Given the description of an element on the screen output the (x, y) to click on. 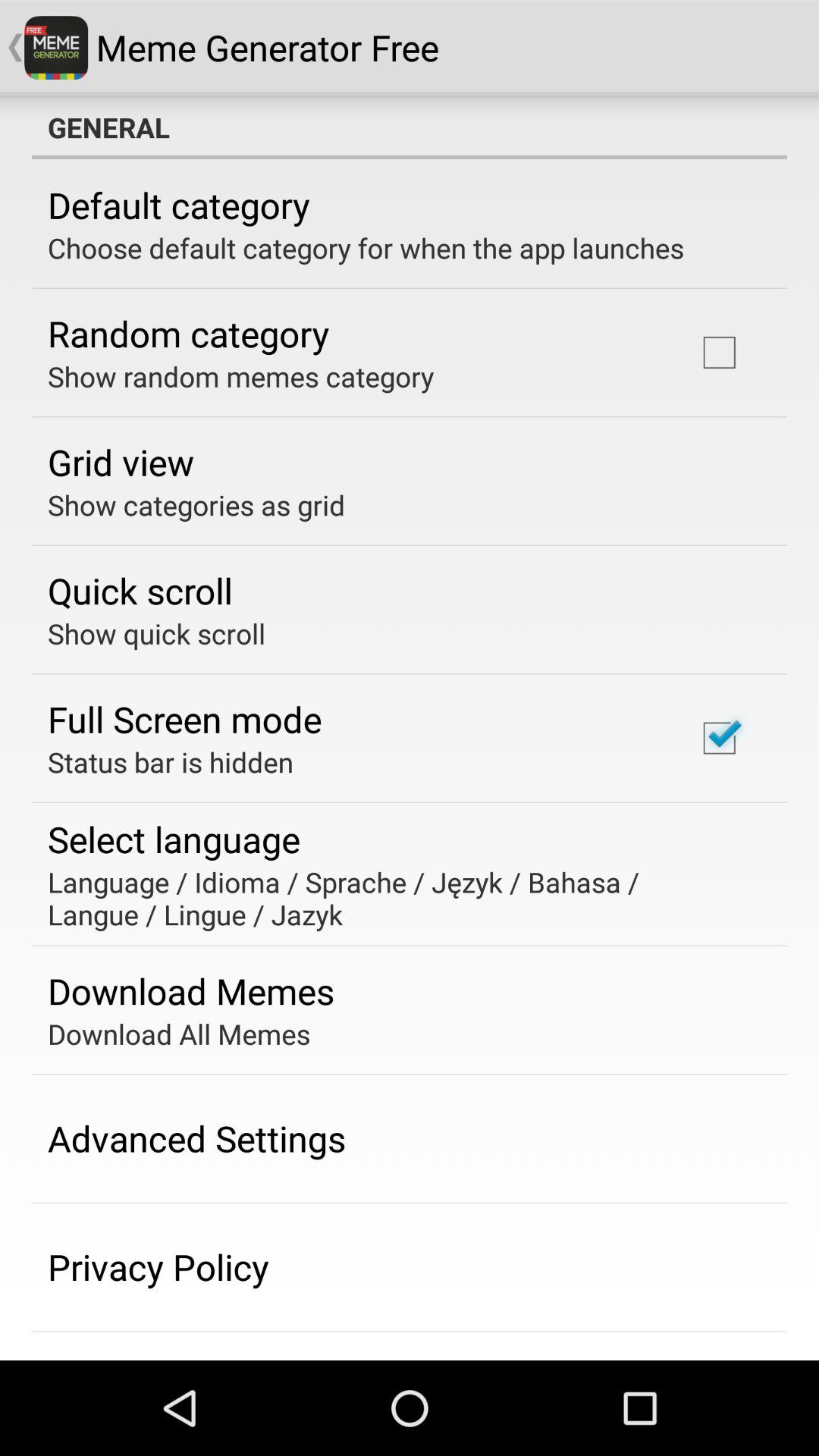
jump until general item (409, 127)
